Given the description of an element on the screen output the (x, y) to click on. 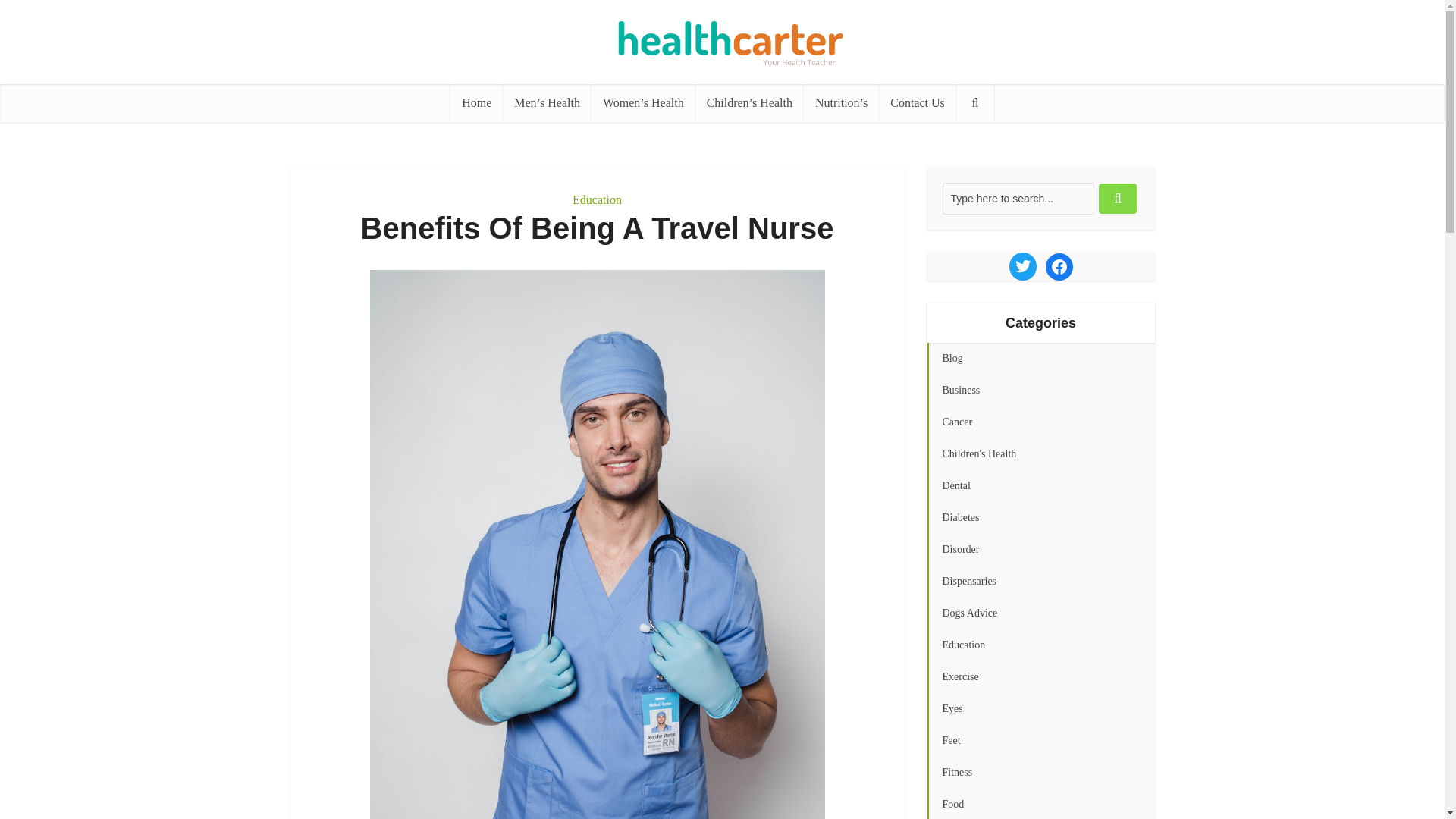
Home (475, 103)
Facebook (1058, 266)
Type here to search... (1017, 198)
Contact Us (917, 103)
Twitter (1022, 266)
HealthCarter (721, 35)
Education (596, 199)
Type here to search... (1017, 198)
